Given the description of an element on the screen output the (x, y) to click on. 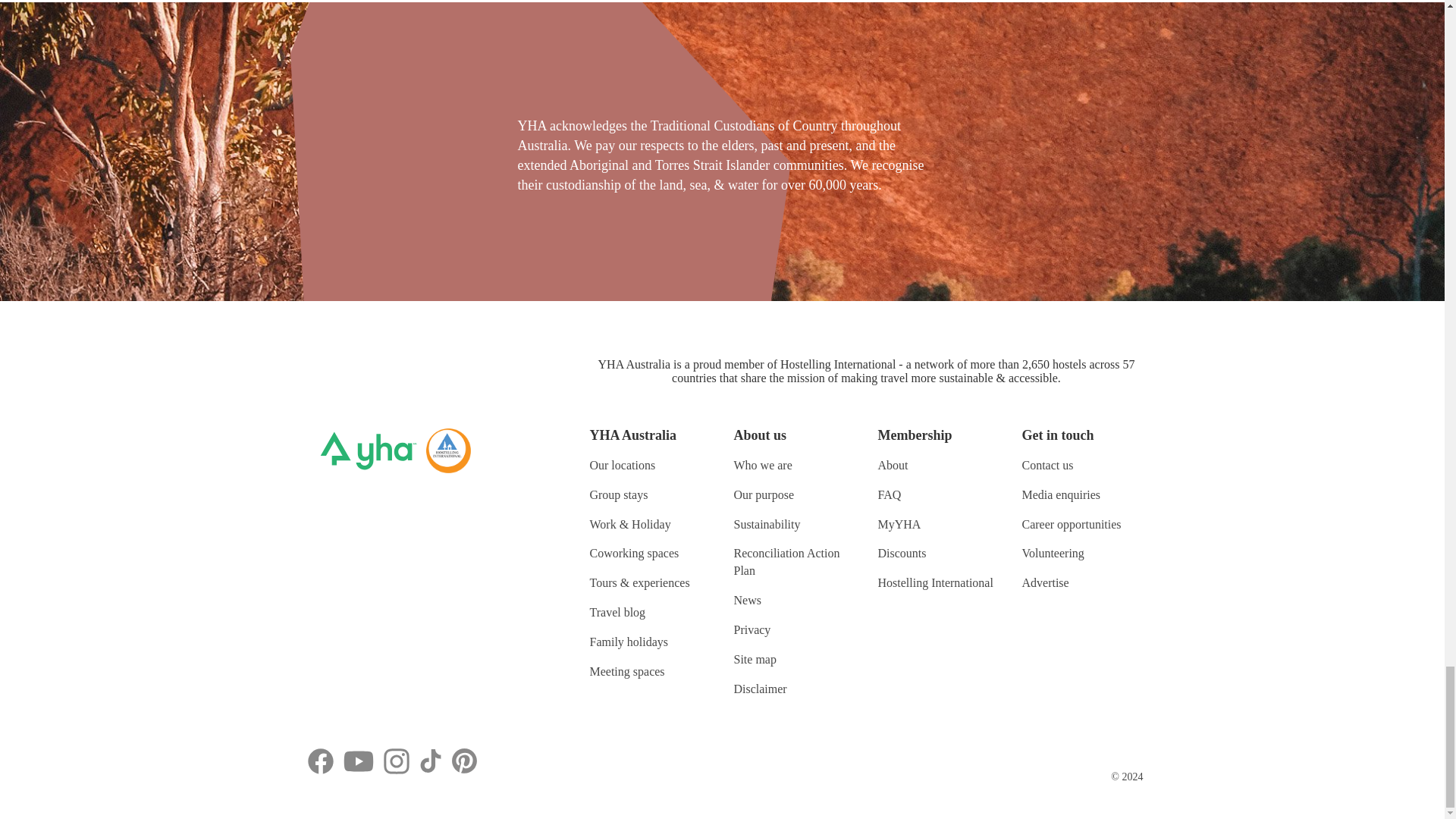
YHA Australia (368, 449)
Hostelling International (448, 449)
